Given the description of an element on the screen output the (x, y) to click on. 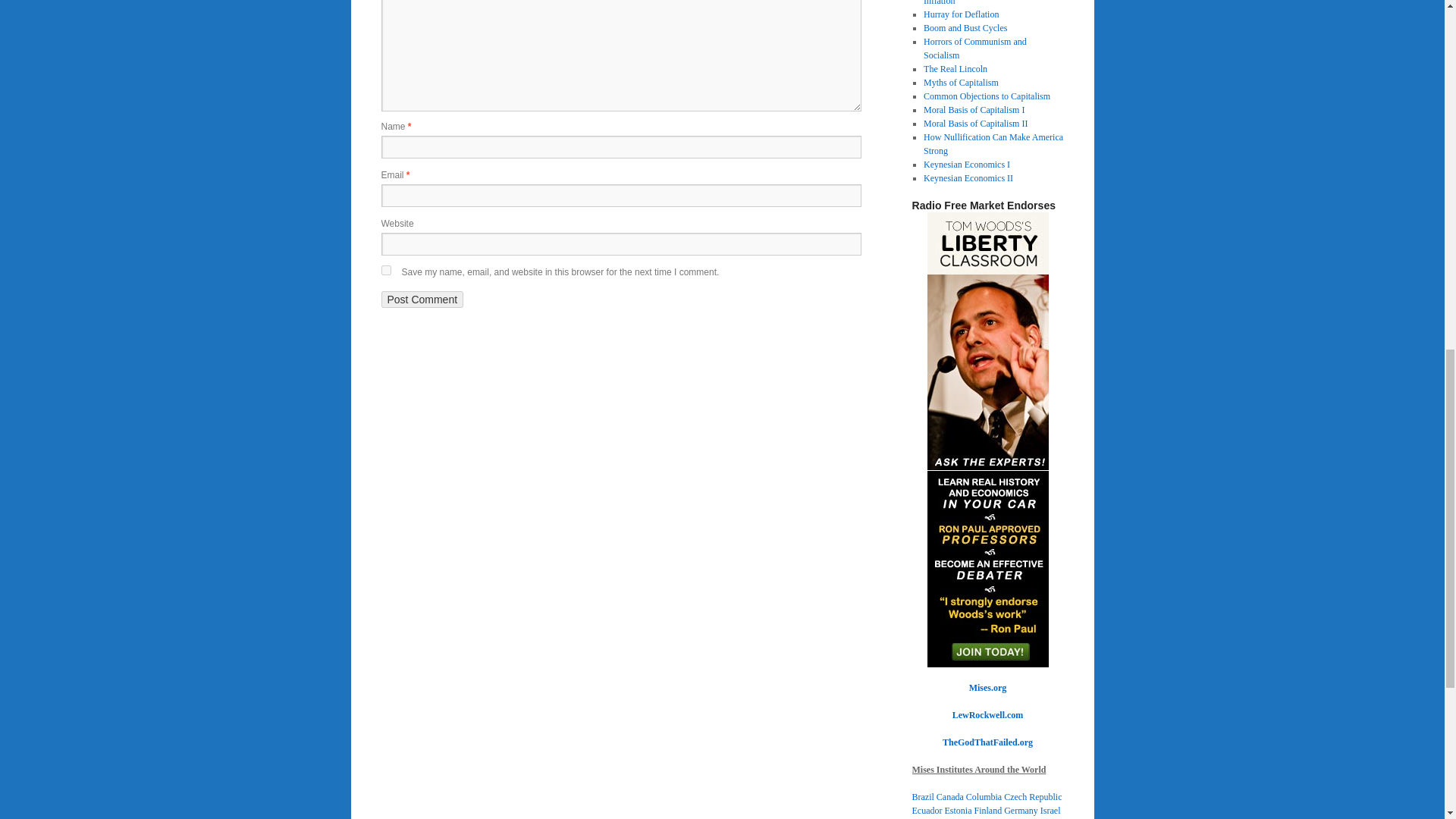
Moral Basis of Capitalism I (974, 109)
Horrors of Communism and Socialism (974, 48)
How Nullification Can Make America Strong (992, 143)
The Real Lincoln (955, 68)
Keynesian Economics II (968, 177)
Keynesian Economics I (966, 163)
Hurray for Deflation (960, 14)
Myths of Capitalism (960, 81)
Moral Basis of Capitalism II (975, 122)
Boom and Bust Cycles (965, 27)
